Given the description of an element on the screen output the (x, y) to click on. 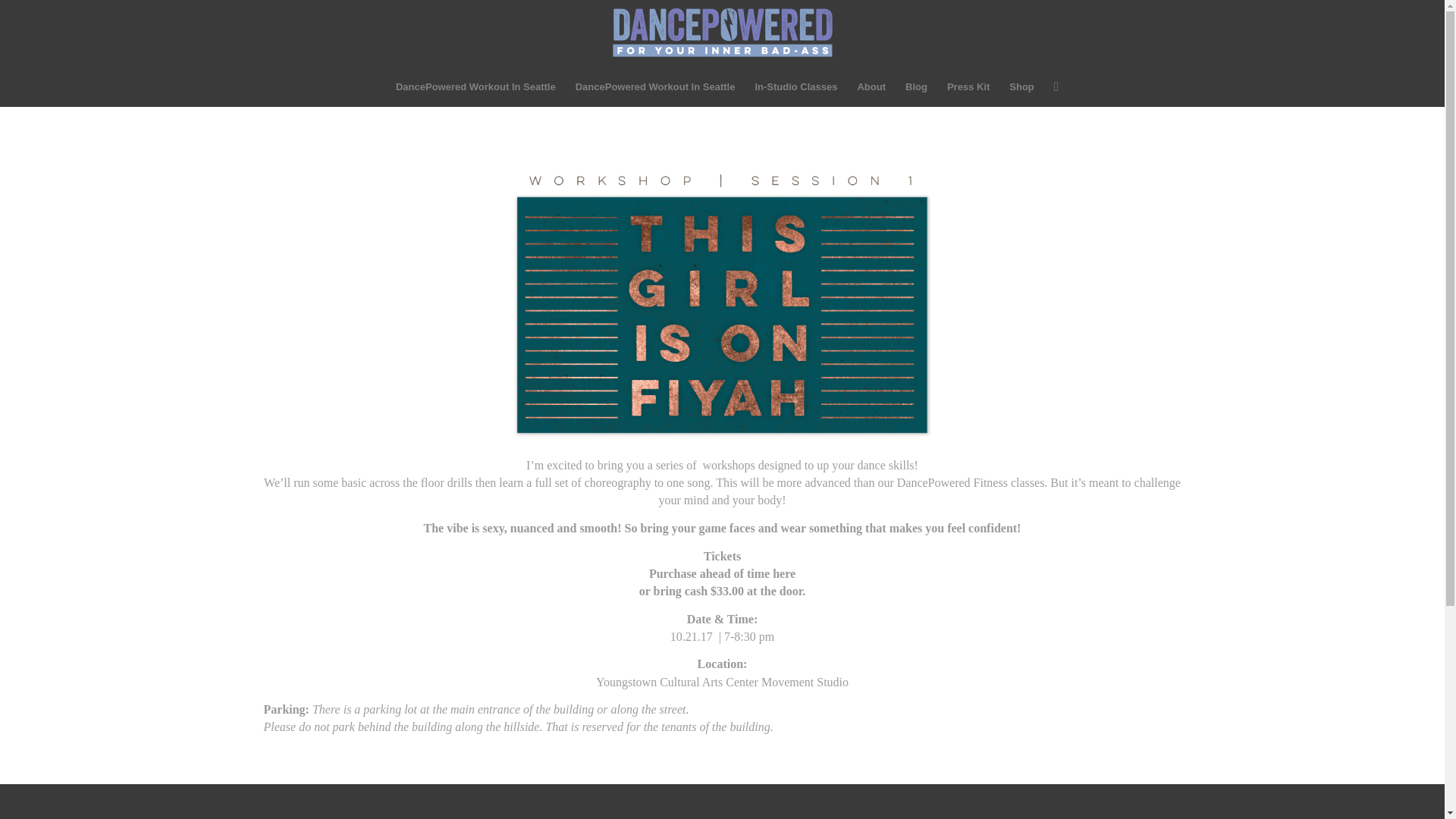
DancePowered Workout In Seattle (655, 86)
here (783, 573)
DancePowered Workout In Seattle (475, 86)
Press Kit (967, 86)
In-Studio Classes (795, 86)
Shop (1020, 86)
About (871, 86)
Blog (916, 86)
